Given the description of an element on the screen output the (x, y) to click on. 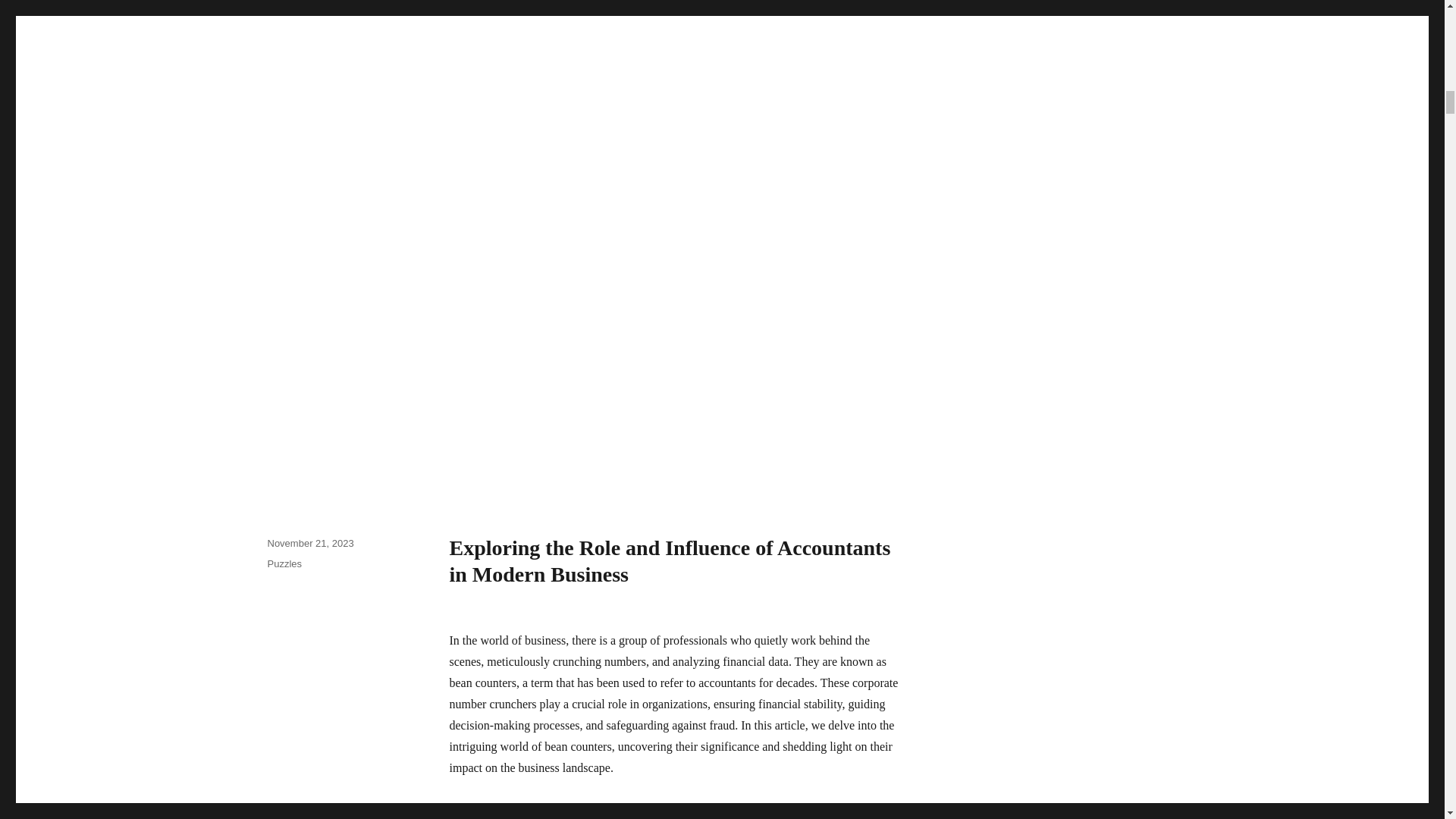
November 21, 2023 (309, 542)
Puzzles (283, 563)
